Given the description of an element on the screen output the (x, y) to click on. 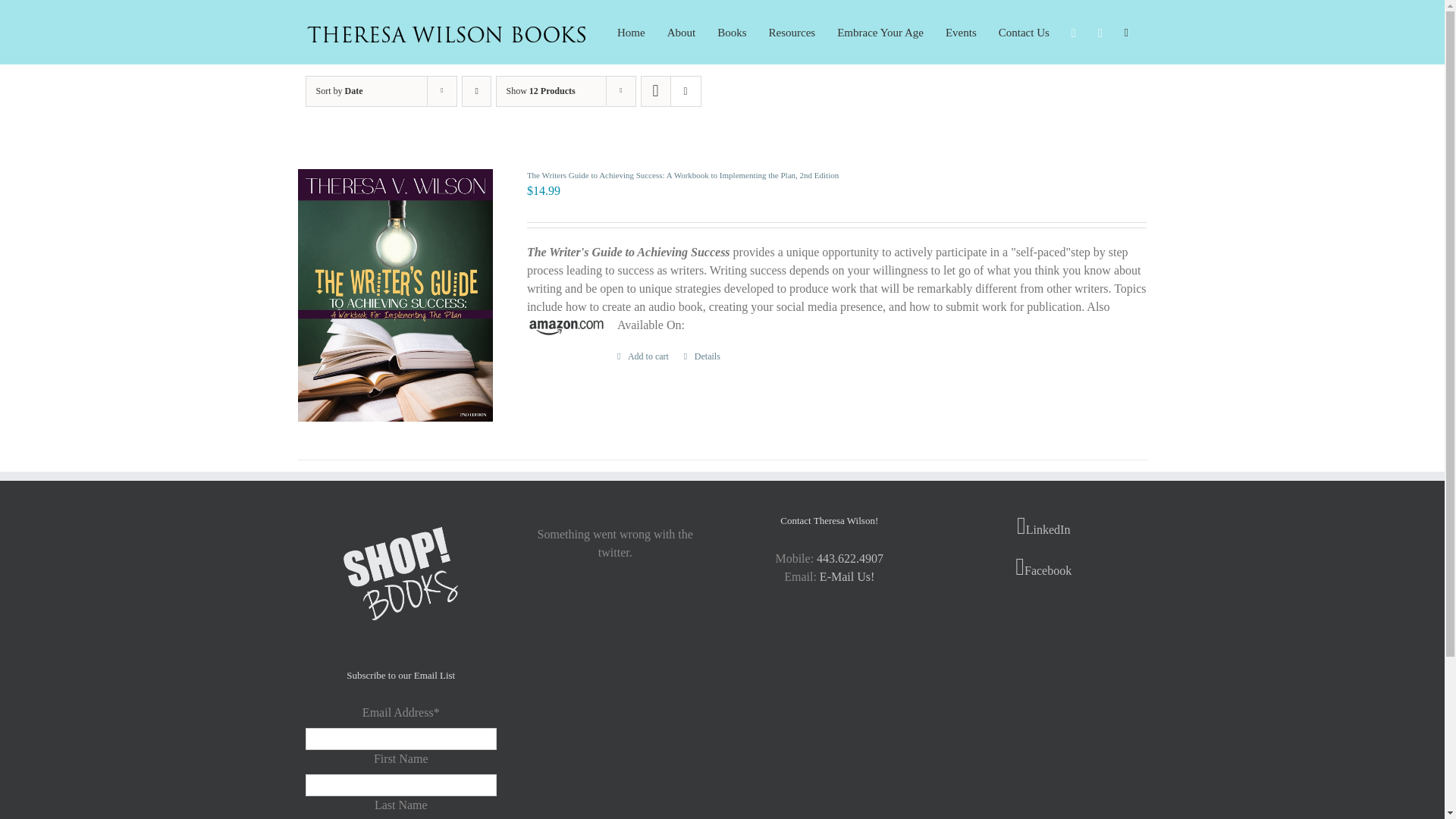
Resources (791, 31)
Books (731, 31)
Home (631, 31)
Visit Theresa Wilson Books on Facebook (1043, 566)
Show 12 Products (540, 90)
Sort by Date (338, 90)
Contact Us (1023, 31)
Visit Theresa Wilson Books on LinkedIn (1043, 525)
About (680, 31)
Events (960, 31)
Embrace Your Age (880, 31)
